Given the description of an element on the screen output the (x, y) to click on. 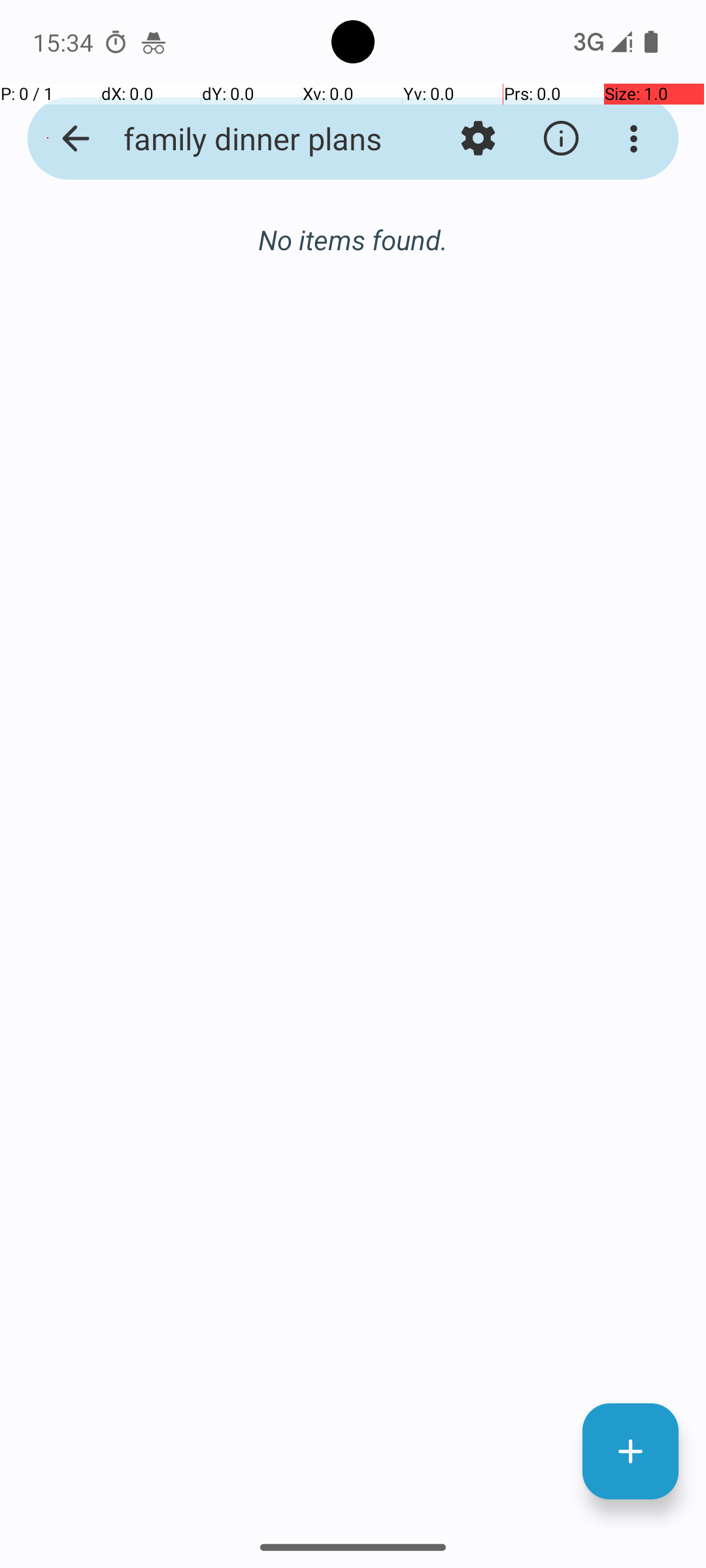
family dinner plans Element type: android.widget.EditText (252, 138)
